Given the description of an element on the screen output the (x, y) to click on. 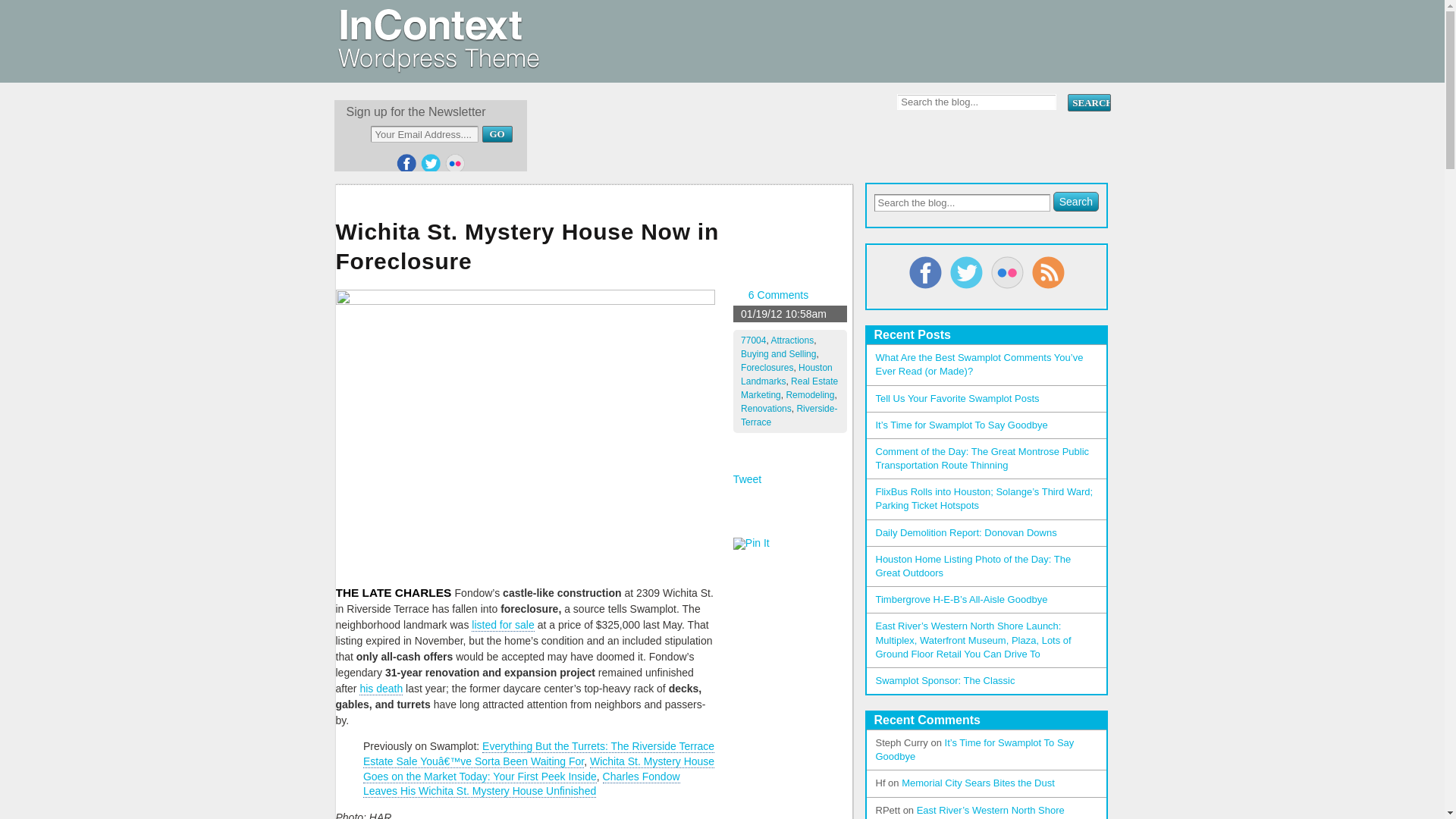
GO (496, 134)
Wichita St. Mystery House Now in Foreclosure (592, 248)
listed for sale (502, 625)
GO (496, 134)
Swamplot (437, 67)
his death (381, 688)
Search (1088, 102)
Search (1074, 201)
Follow us on Twitter (430, 163)
